Given the description of an element on the screen output the (x, y) to click on. 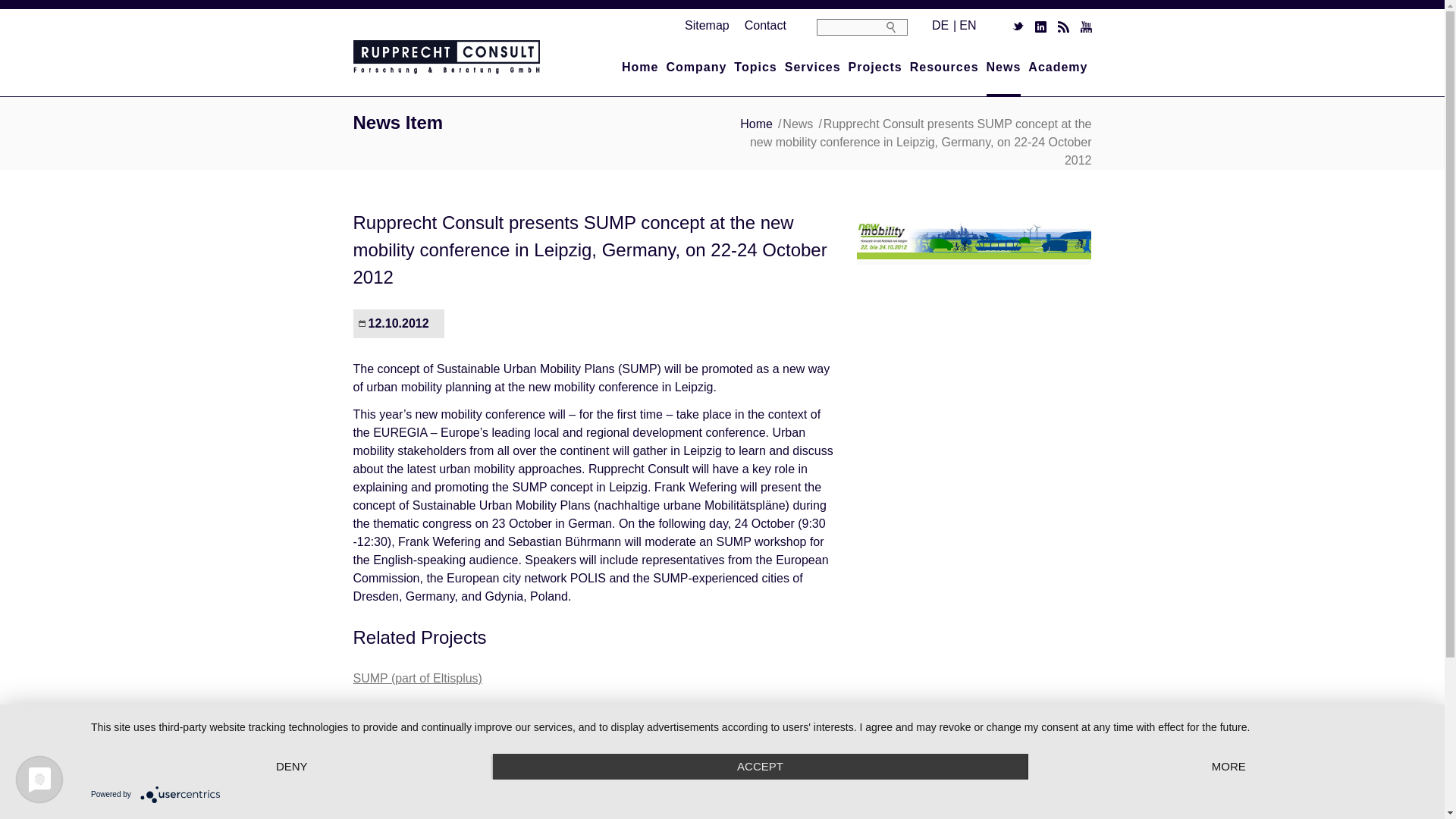
search (896, 28)
EN (967, 24)
YouTube (1085, 26)
Resources (944, 66)
search (896, 28)
DE (940, 24)
Contact (765, 24)
suchen (896, 28)
Company (695, 66)
Sitemap (706, 24)
Services (812, 66)
Twitter (1017, 27)
LinkedIn (1039, 26)
Academy (1057, 66)
RSS (1062, 26)
